Given the description of an element on the screen output the (x, y) to click on. 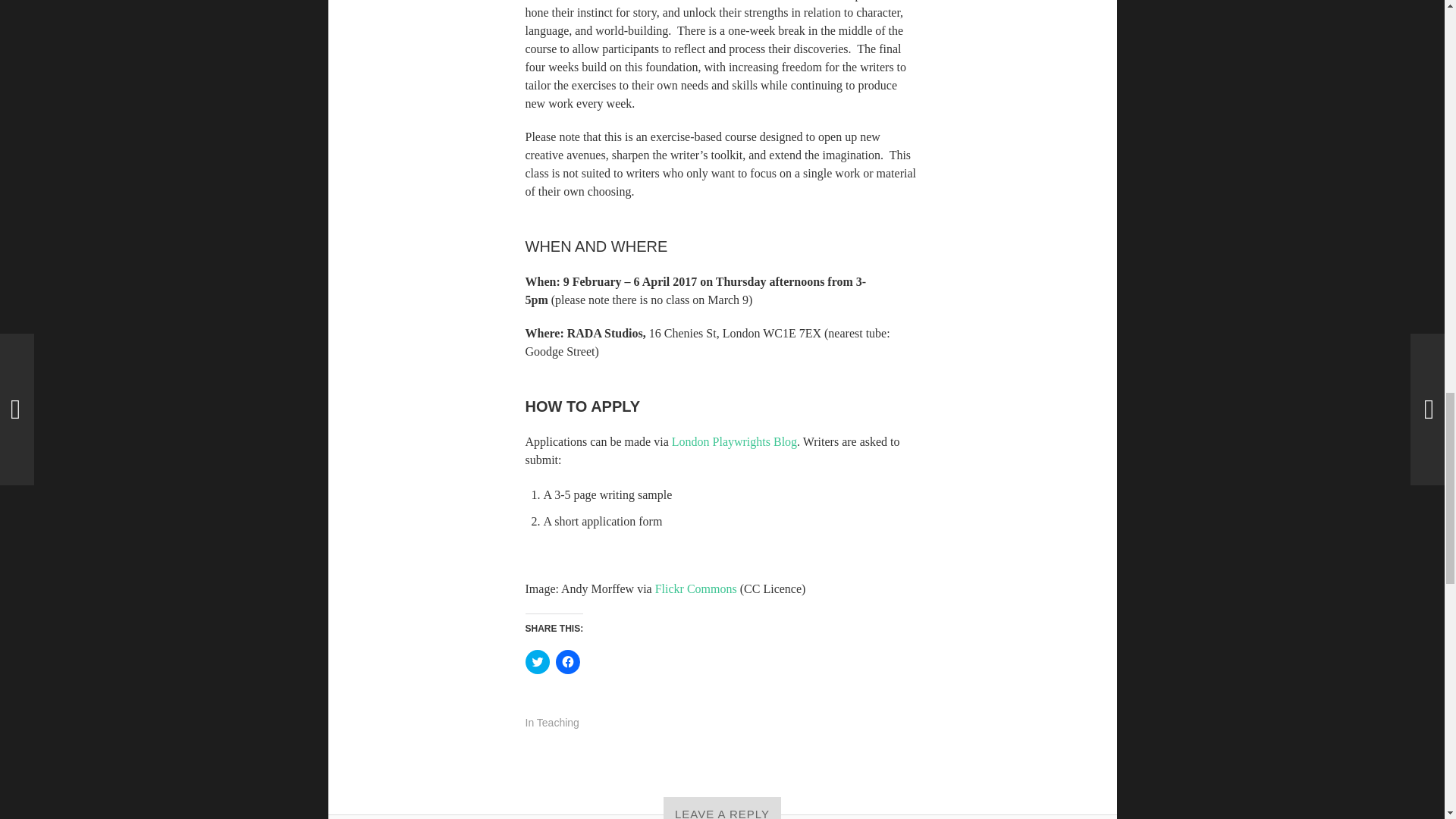
Click to share on Facebook (566, 662)
London Playwrights Blog (732, 440)
Flickr Commons (695, 588)
Click to share on Twitter (536, 662)
Teaching (558, 722)
